Given the description of an element on the screen output the (x, y) to click on. 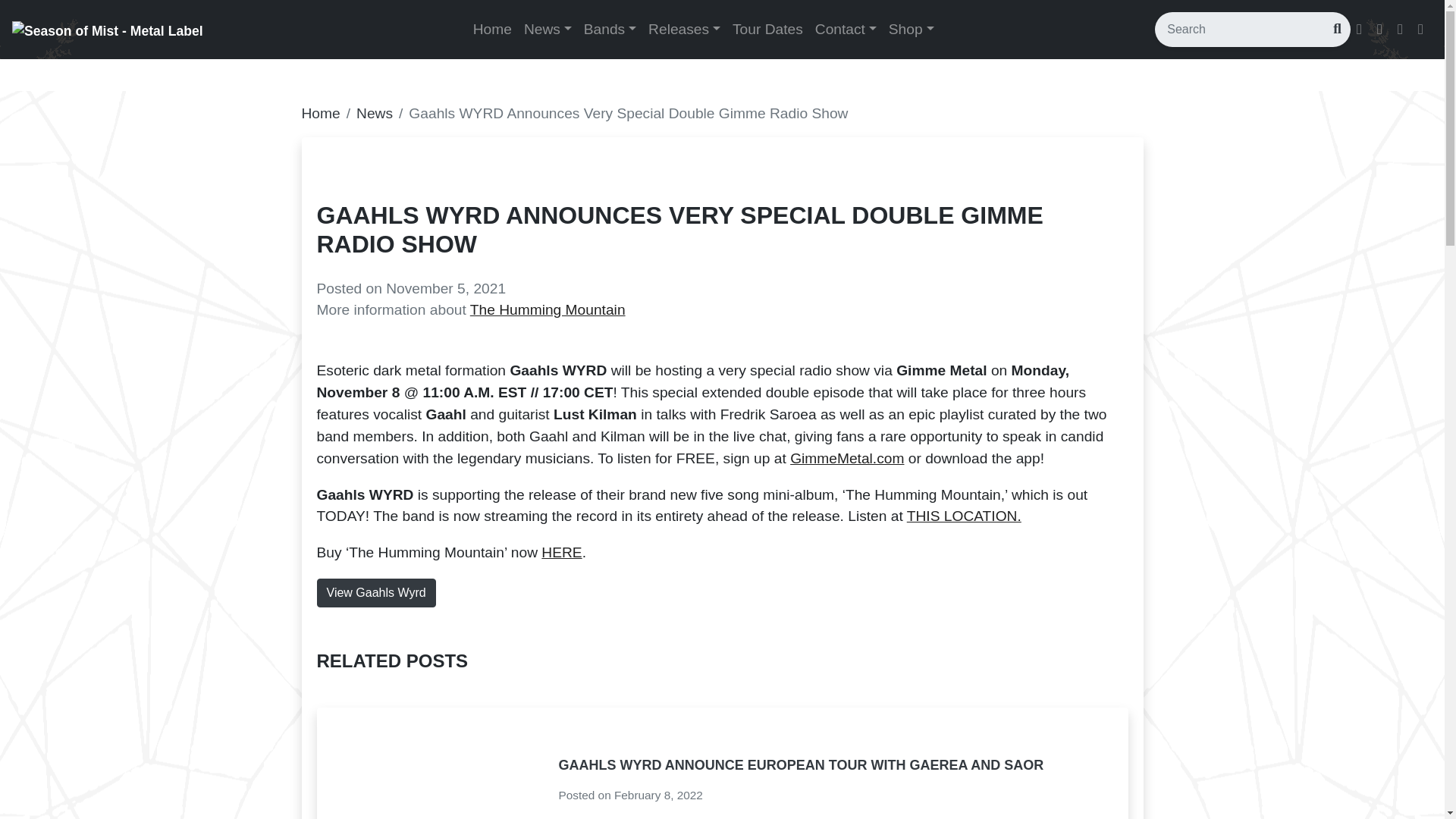
GimmeMetal.com (847, 458)
Home (320, 113)
Releases (684, 29)
Bands (610, 29)
GAAHLS WYRD ANNOUNCE EUROPEAN TOUR WITH GAEREA AND SAOR (800, 765)
Contact (845, 29)
News (548, 29)
Home (492, 29)
Home (492, 29)
Tour Dates (767, 29)
THIS LOCATION. (964, 515)
Shop (911, 29)
View Gaahls Wyrd (376, 592)
Tour Dates (767, 29)
HERE (560, 552)
